Given the description of an element on the screen output the (x, y) to click on. 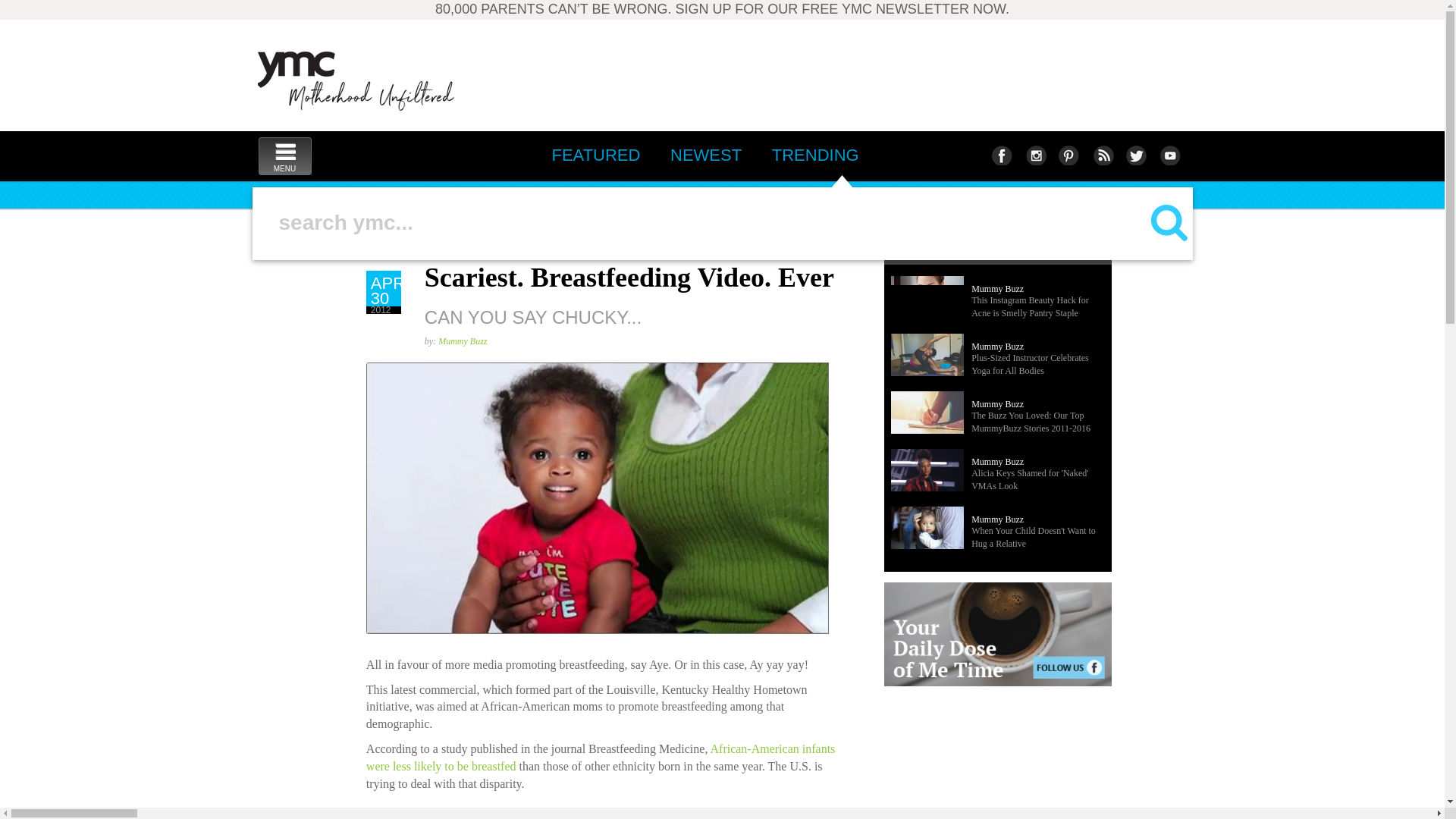
Enter the terms you wish to search for. (284, 156)
YouTube (704, 222)
Home (1168, 154)
Pinterest (355, 79)
Facebook (1068, 154)
TRENDING (1001, 154)
Instagram (815, 155)
Search (1034, 154)
Skip to main content (275, 276)
